Given the description of an element on the screen output the (x, y) to click on. 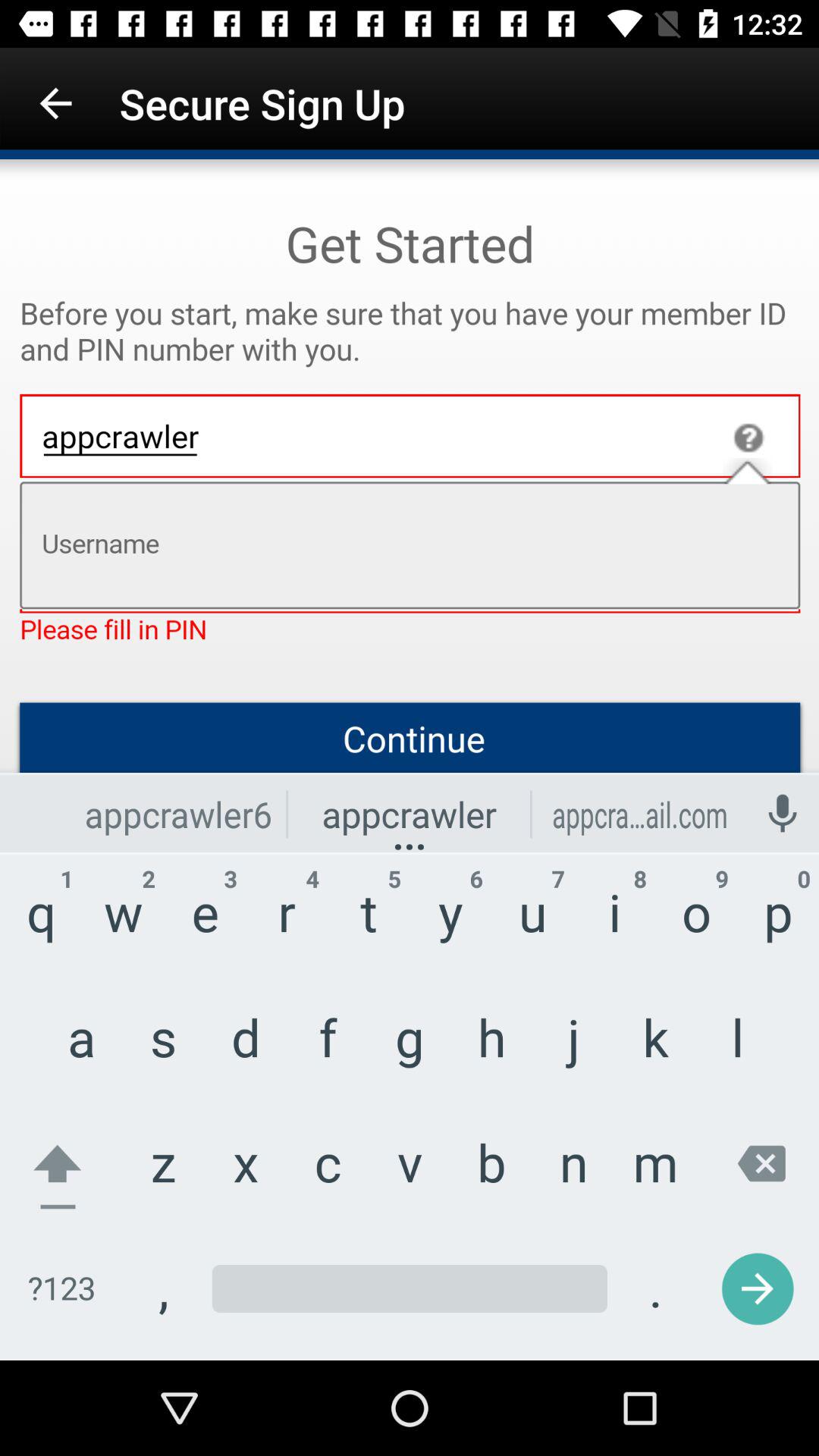
wrong member id (409, 759)
